Given the description of an element on the screen output the (x, y) to click on. 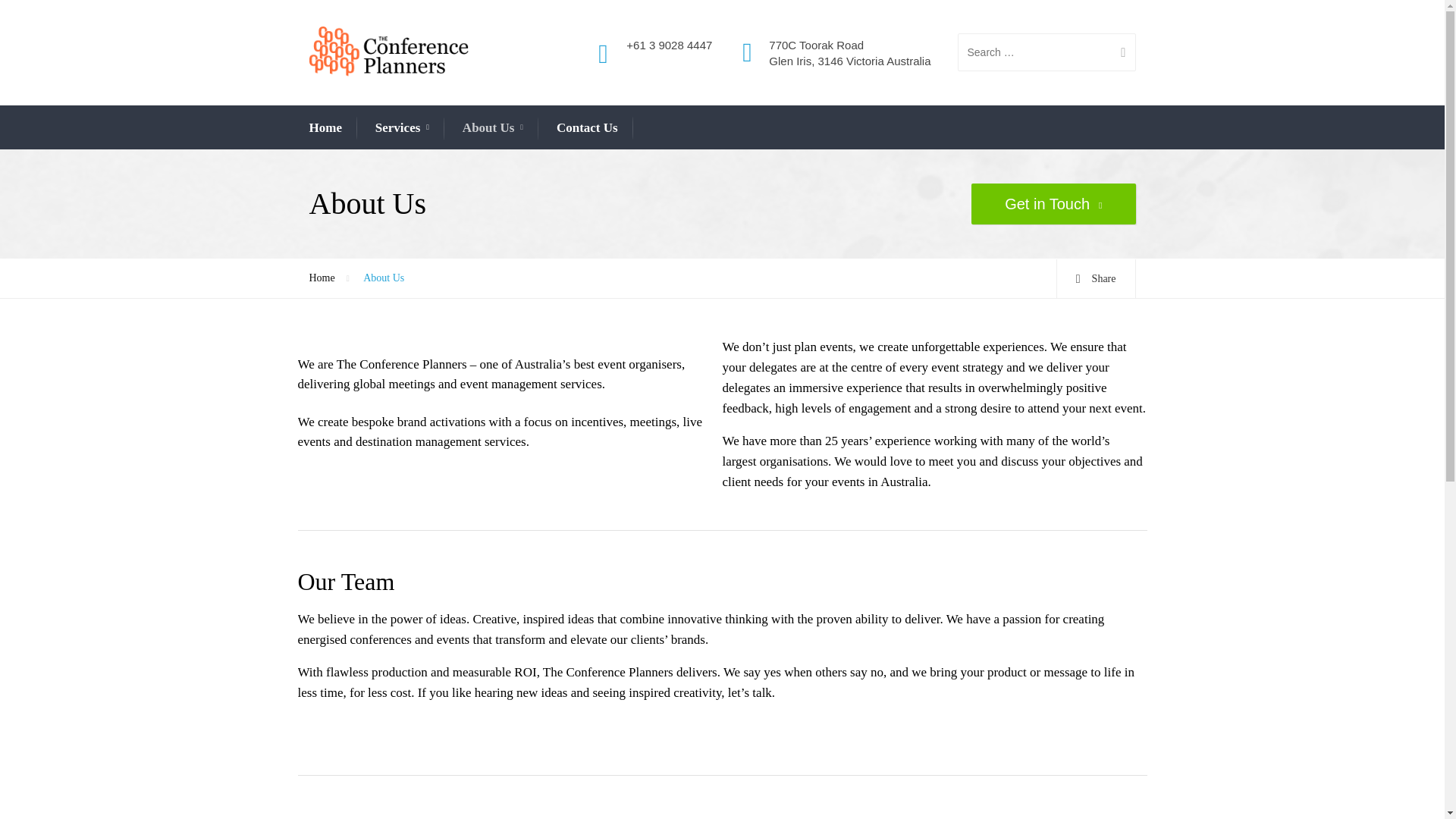
About Us (492, 128)
Search (1117, 52)
Search (1117, 52)
Services (402, 128)
Contact Us (586, 127)
Home (325, 127)
Search (1117, 52)
